Given the description of an element on the screen output the (x, y) to click on. 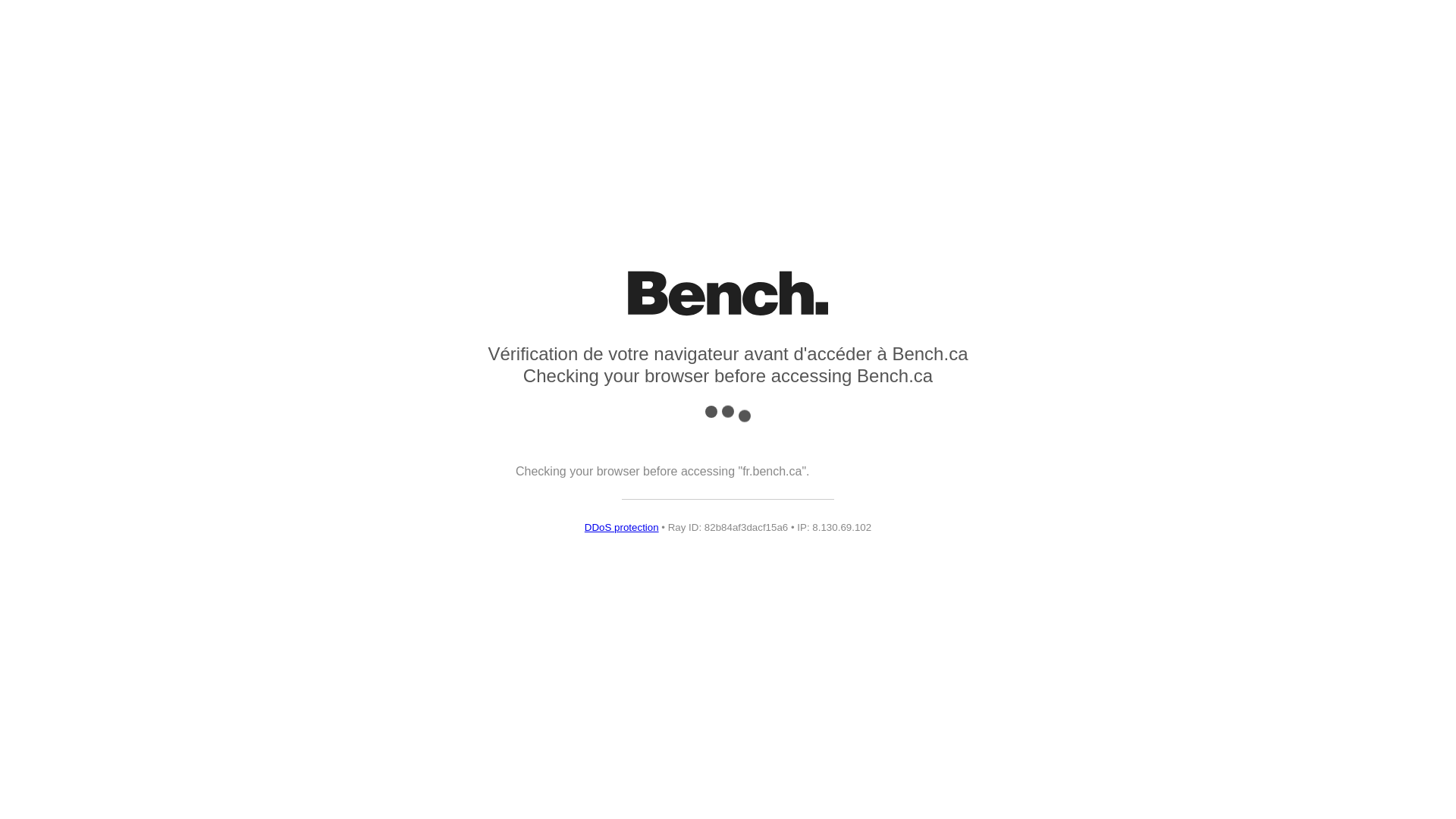
DDoS protection Element type: text (621, 527)
